Given the description of an element on the screen output the (x, y) to click on. 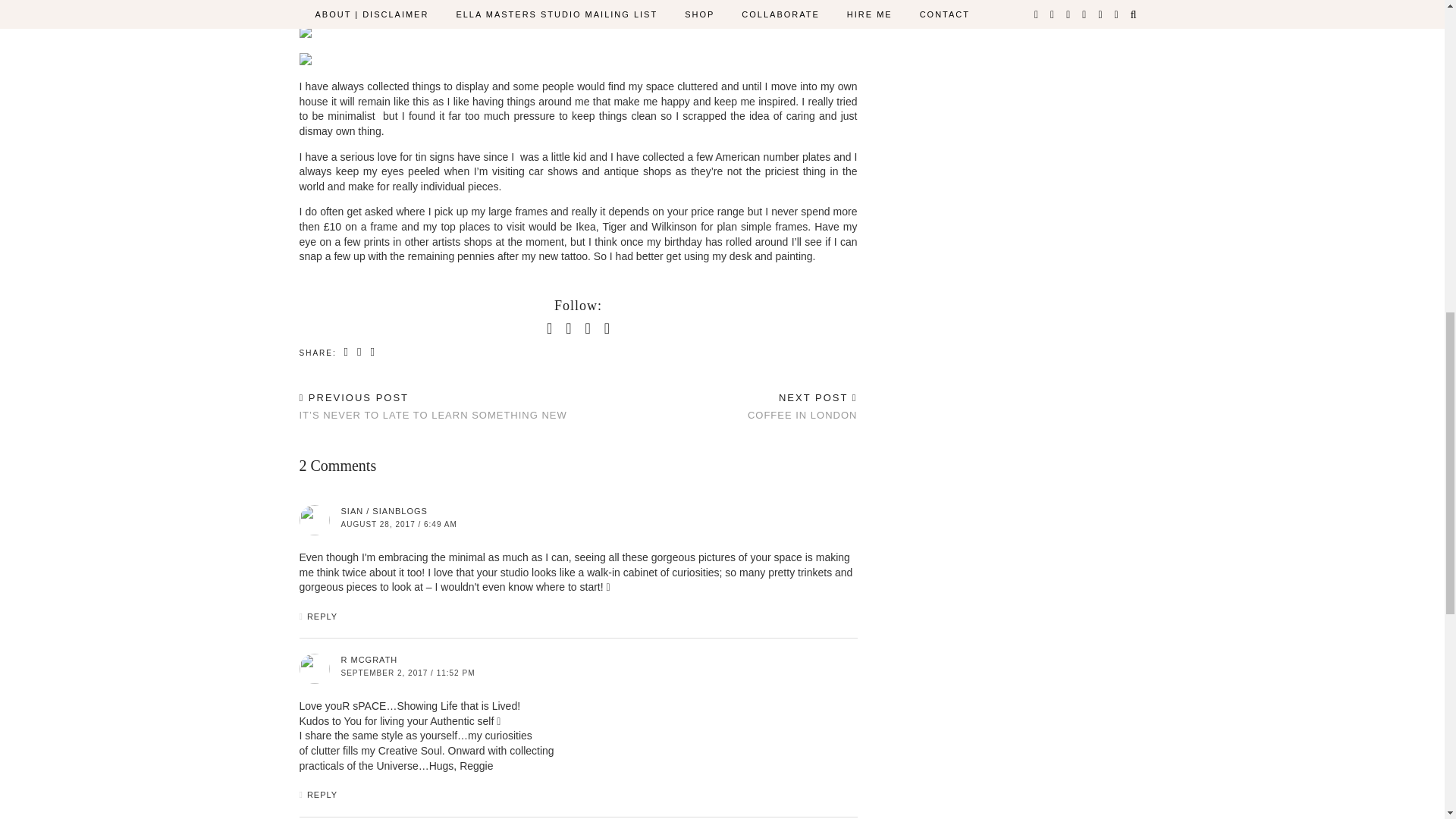
REPLY (322, 615)
Share on Twitter (359, 352)
R MCGRATH (368, 659)
Share on Pinterest (372, 352)
Share on Facebook (346, 352)
